Given the description of an element on the screen output the (x, y) to click on. 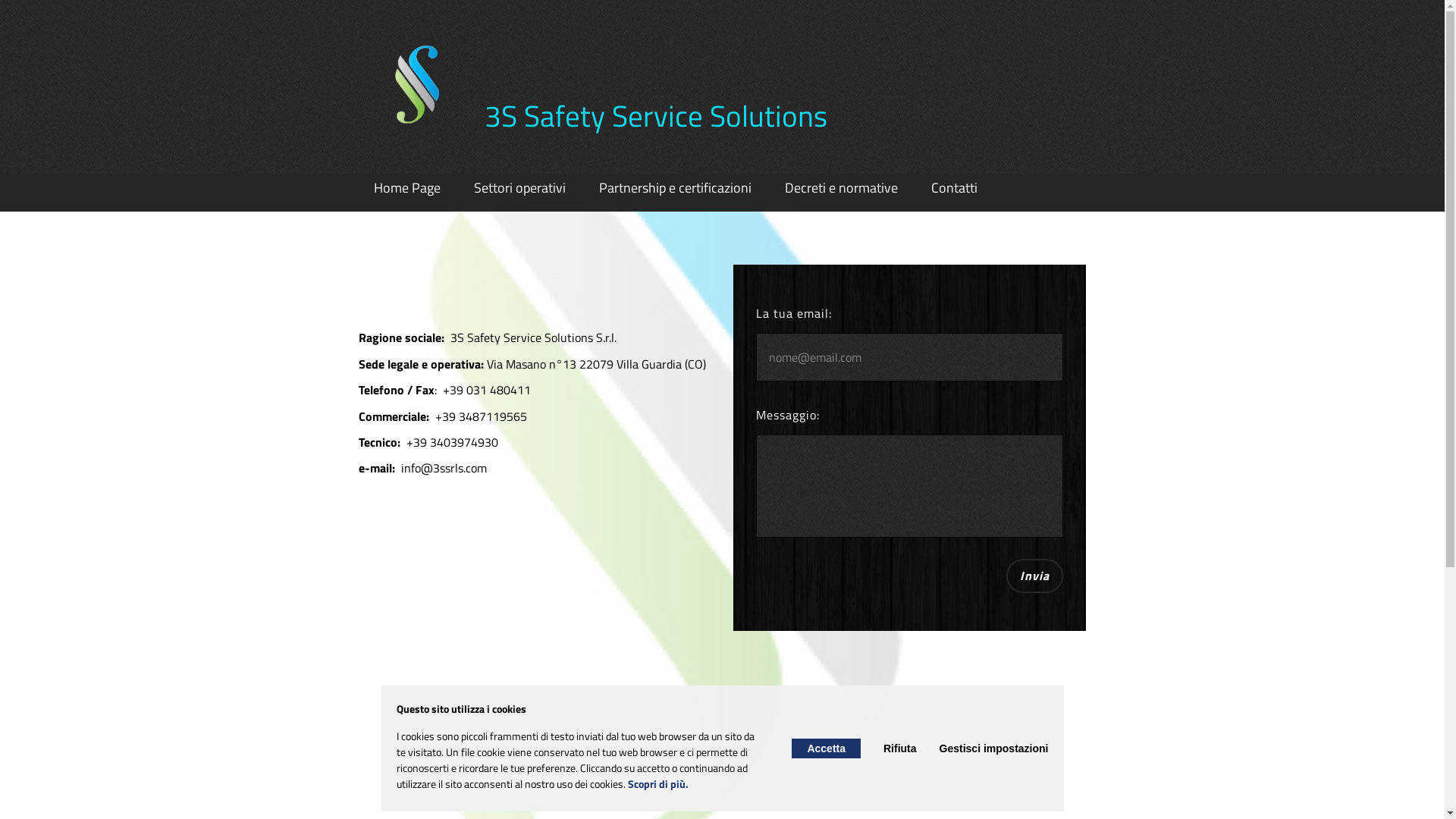
Accetta Element type: text (825, 748)
3S Safety Service Solutions Element type: text (654, 115)
Invia Element type: text (1034, 575)
Home Page Element type: text (406, 187)
Settori operativi Element type: text (519, 187)
Decreti e normative Element type: text (840, 187)
Gestisci impostazioni Element type: text (993, 748)
Partnership e certificazioni Element type: text (674, 187)
Rifiuta Element type: text (899, 748)
Contatti Element type: text (954, 187)
